Given the description of an element on the screen output the (x, y) to click on. 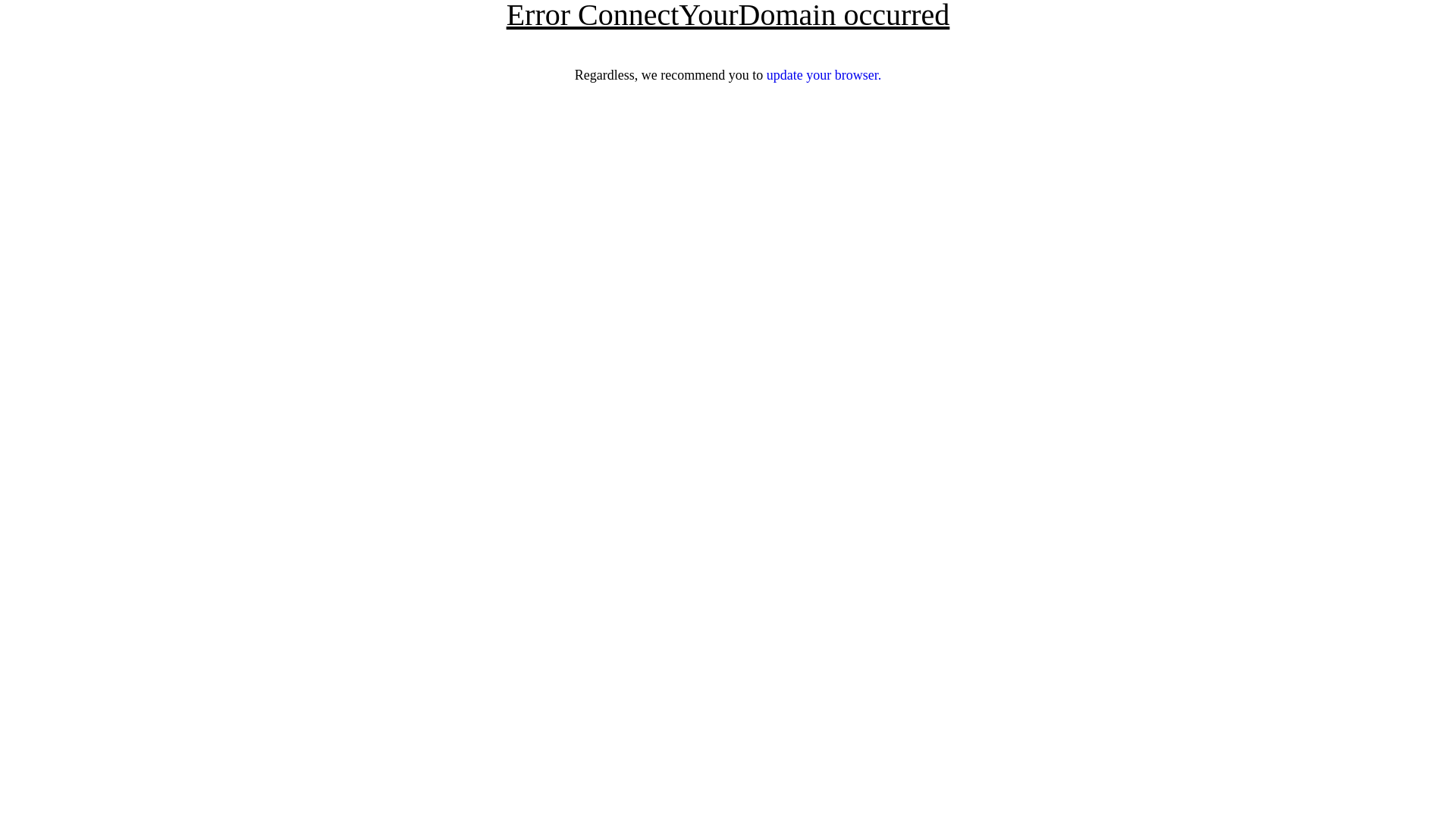
update your browser. Element type: text (823, 74)
